Given the description of an element on the screen output the (x, y) to click on. 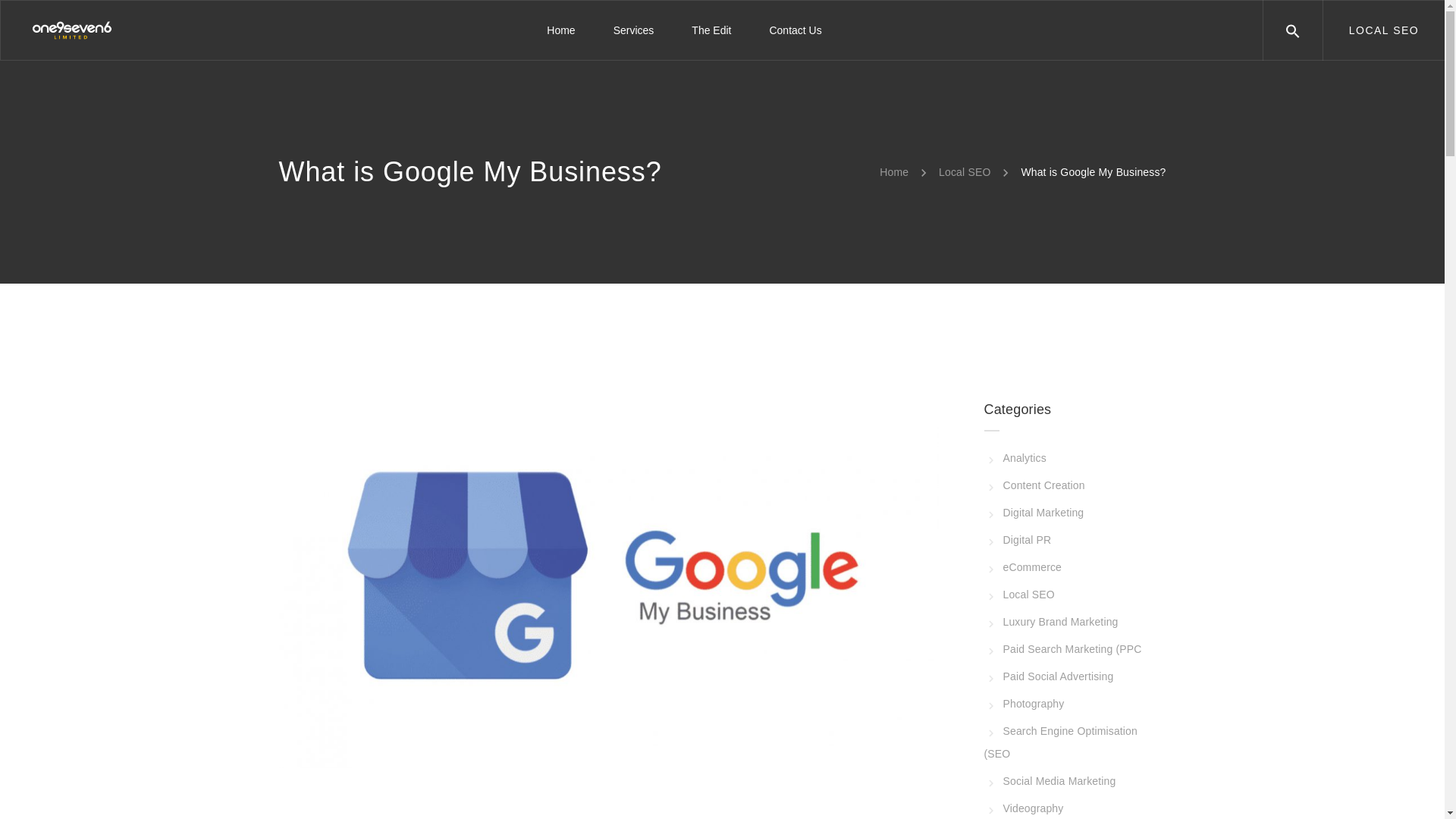
eCommerce (1023, 567)
Home (560, 30)
Digital Marketing (1034, 512)
The Edit (710, 30)
Analytics (1015, 458)
Contact Us (785, 30)
Services (633, 30)
Local SEO (964, 172)
Home (893, 172)
Local SEO (1019, 594)
Content Creation (1034, 485)
Digital PR (1017, 539)
